Given the description of an element on the screen output the (x, y) to click on. 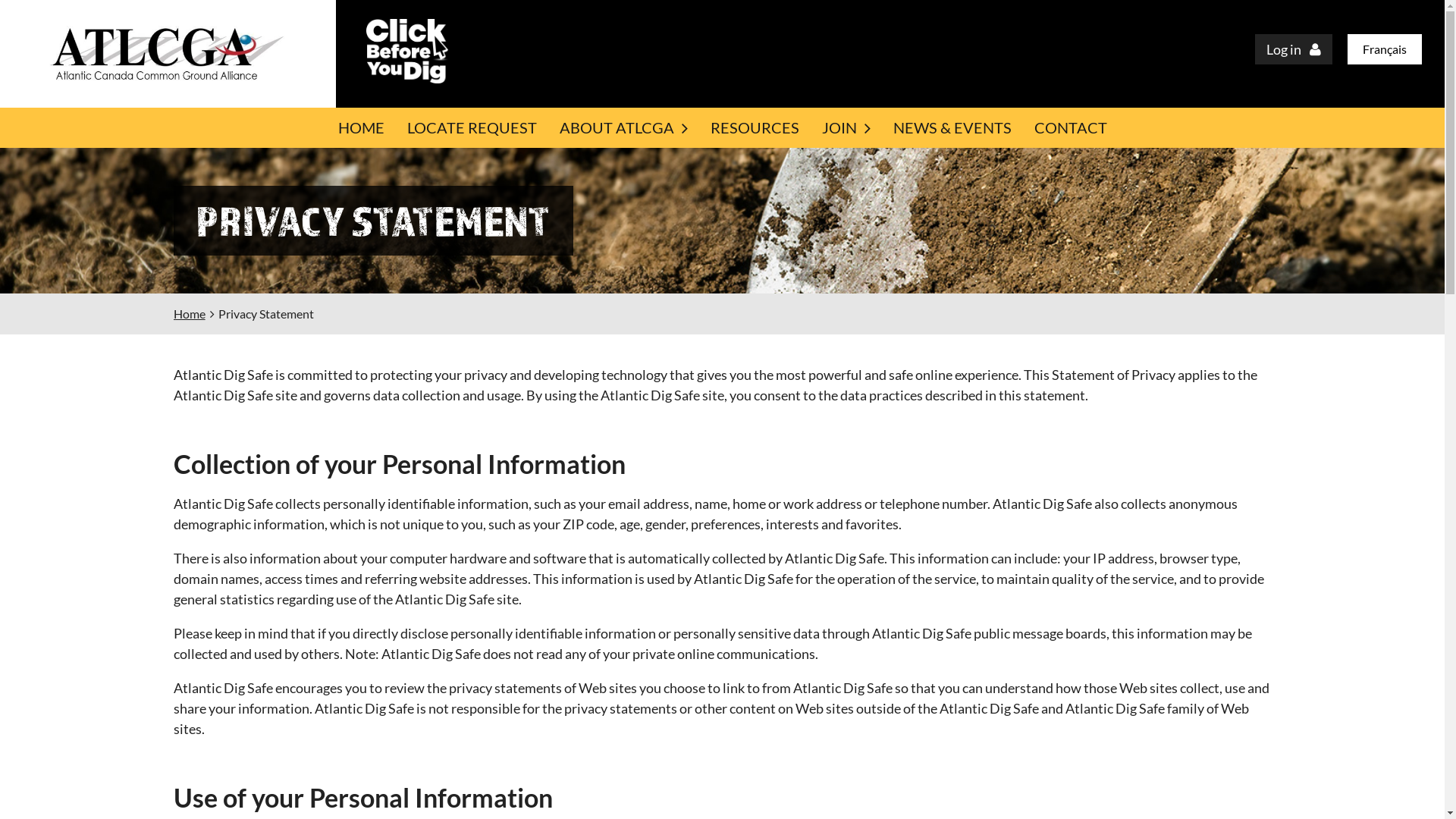
Log in Element type: text (1293, 49)
RESOURCES Element type: text (754, 127)
HOME Element type: text (360, 127)
CONTACT Element type: text (1069, 127)
LOCATE REQUEST Element type: text (471, 127)
Home Element type: text (189, 313)
NEWS & EVENTS Element type: text (951, 127)
JOIN Element type: text (845, 127)
ABOUT ATLCGA Element type: text (622, 127)
